Given the description of an element on the screen output the (x, y) to click on. 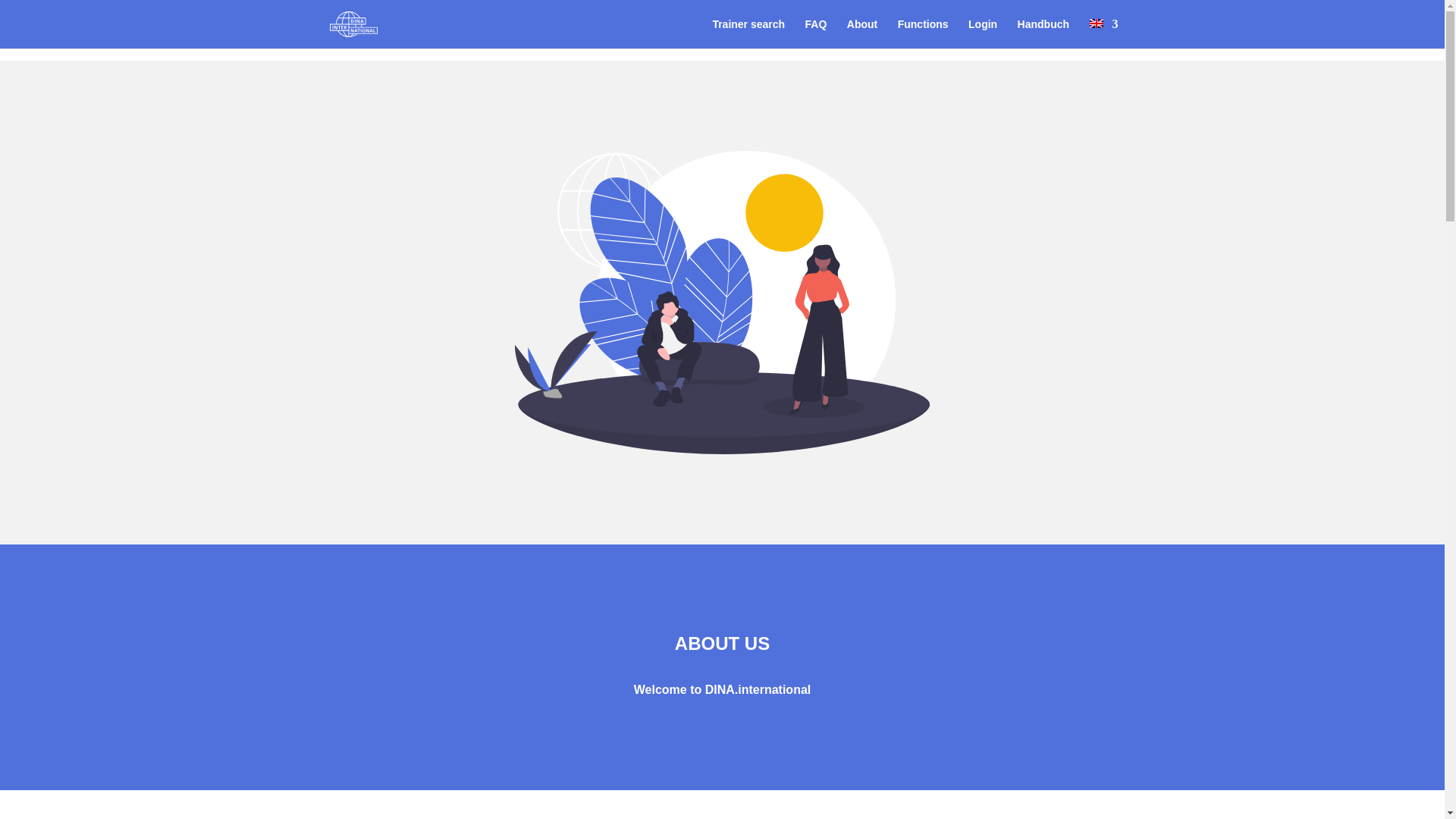
Functions (923, 33)
Login (982, 33)
Handbuch (1042, 33)
About (862, 33)
Trainer search (747, 33)
